Given the description of an element on the screen output the (x, y) to click on. 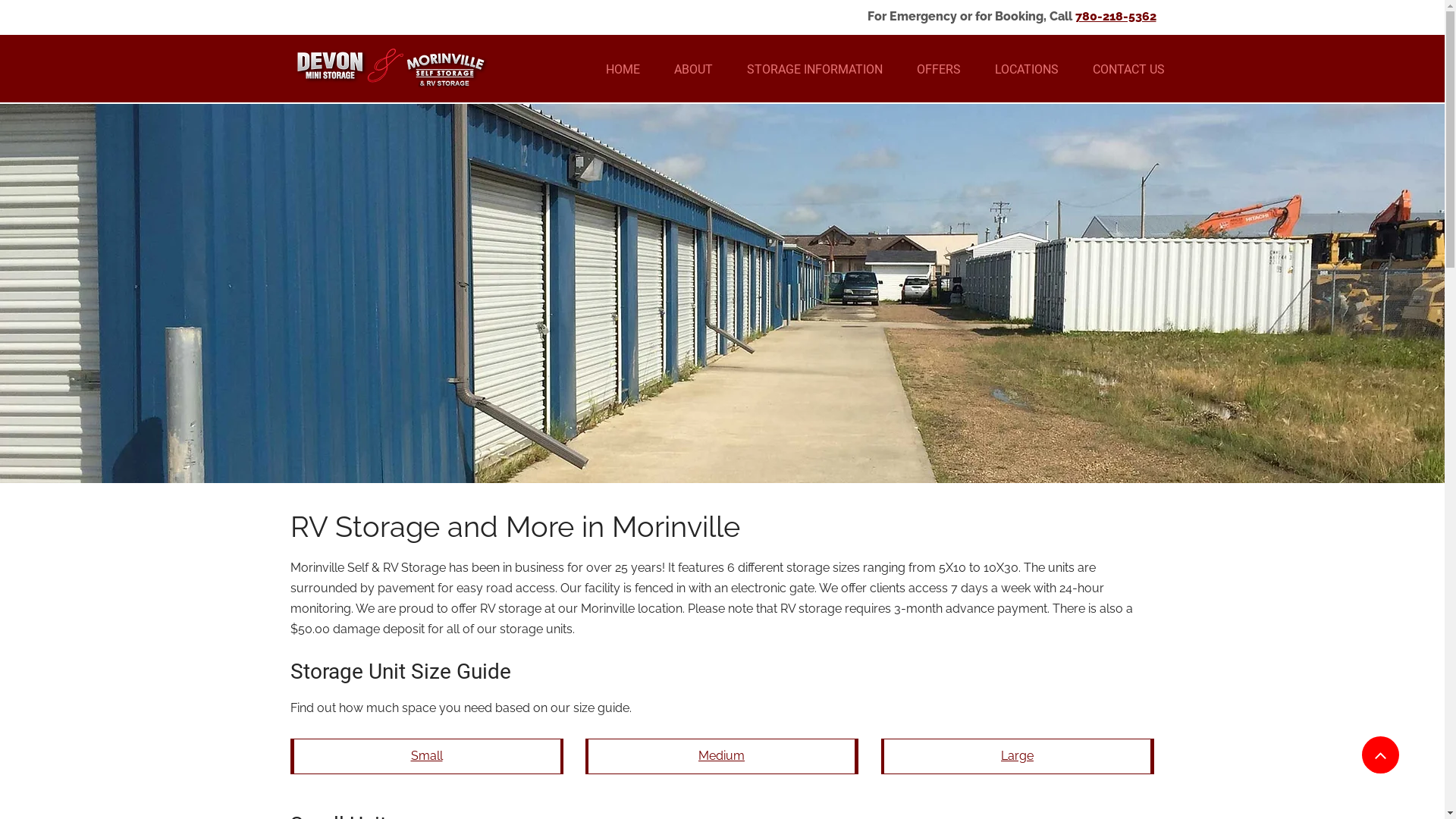
HOME Element type: text (622, 69)
Large Element type: text (1017, 757)
ABOUT Element type: text (693, 69)
Medium Element type: text (721, 757)
CONTACT US Element type: text (1128, 69)
Small Element type: text (426, 757)
STORAGE INFORMATION Element type: text (814, 69)
OFFERS Element type: text (938, 69)
780-218-5362 Element type: text (1115, 17)
